Given the description of an element on the screen output the (x, y) to click on. 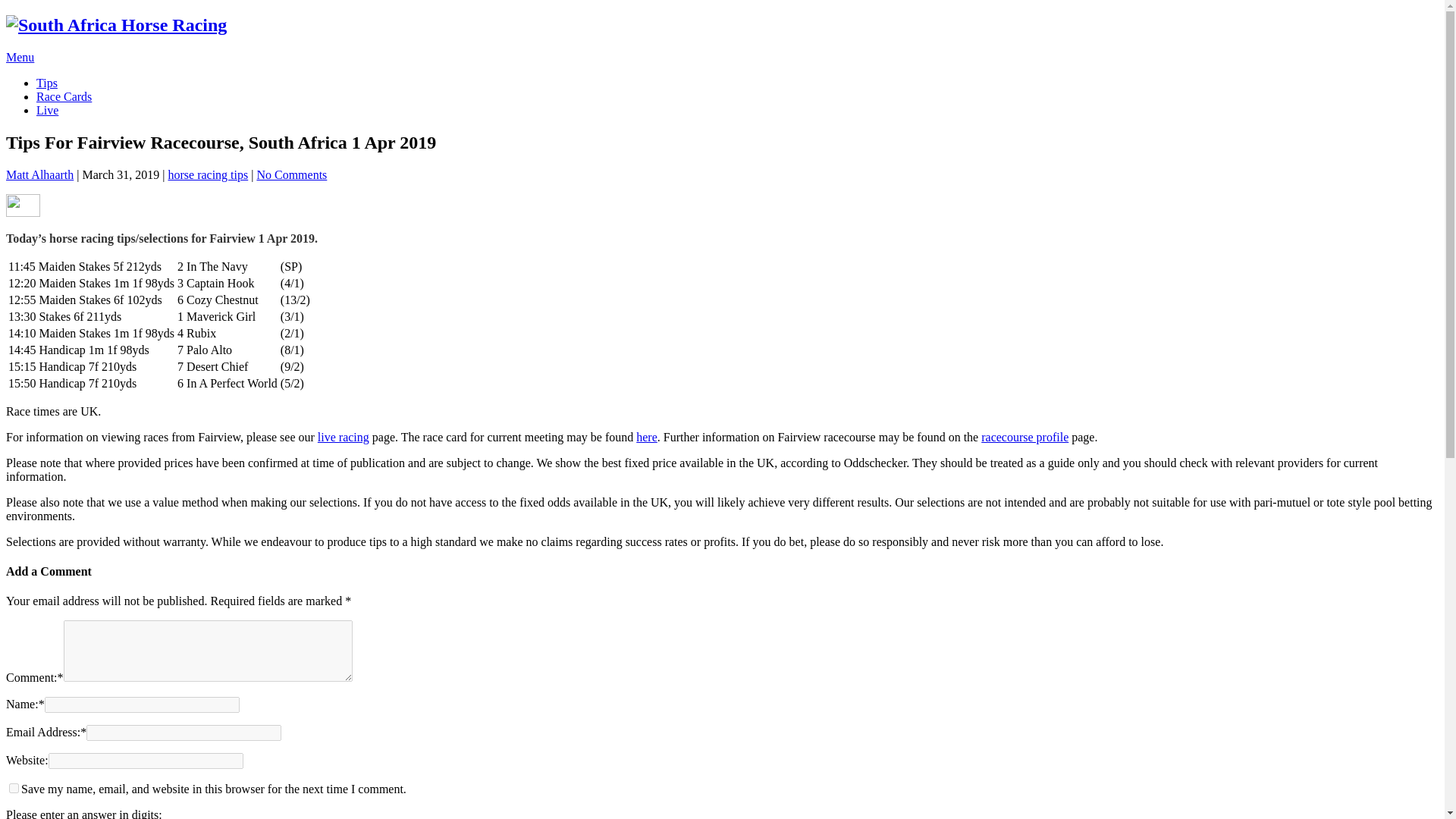
No Comments (291, 174)
South Africa Horse Racing Tips (47, 82)
here (647, 436)
live racing (343, 436)
Menu (19, 56)
Matt Alhaarth (39, 174)
yes (13, 787)
horse racing tips (207, 174)
Live (47, 110)
Posts by Matt Alhaarth (39, 174)
South Africa Race Cards (63, 96)
racecourse profile (1024, 436)
Tips (47, 82)
Race Cards (63, 96)
Watch Live South Africa Horse Racing Stream (47, 110)
